Given the description of an element on the screen output the (x, y) to click on. 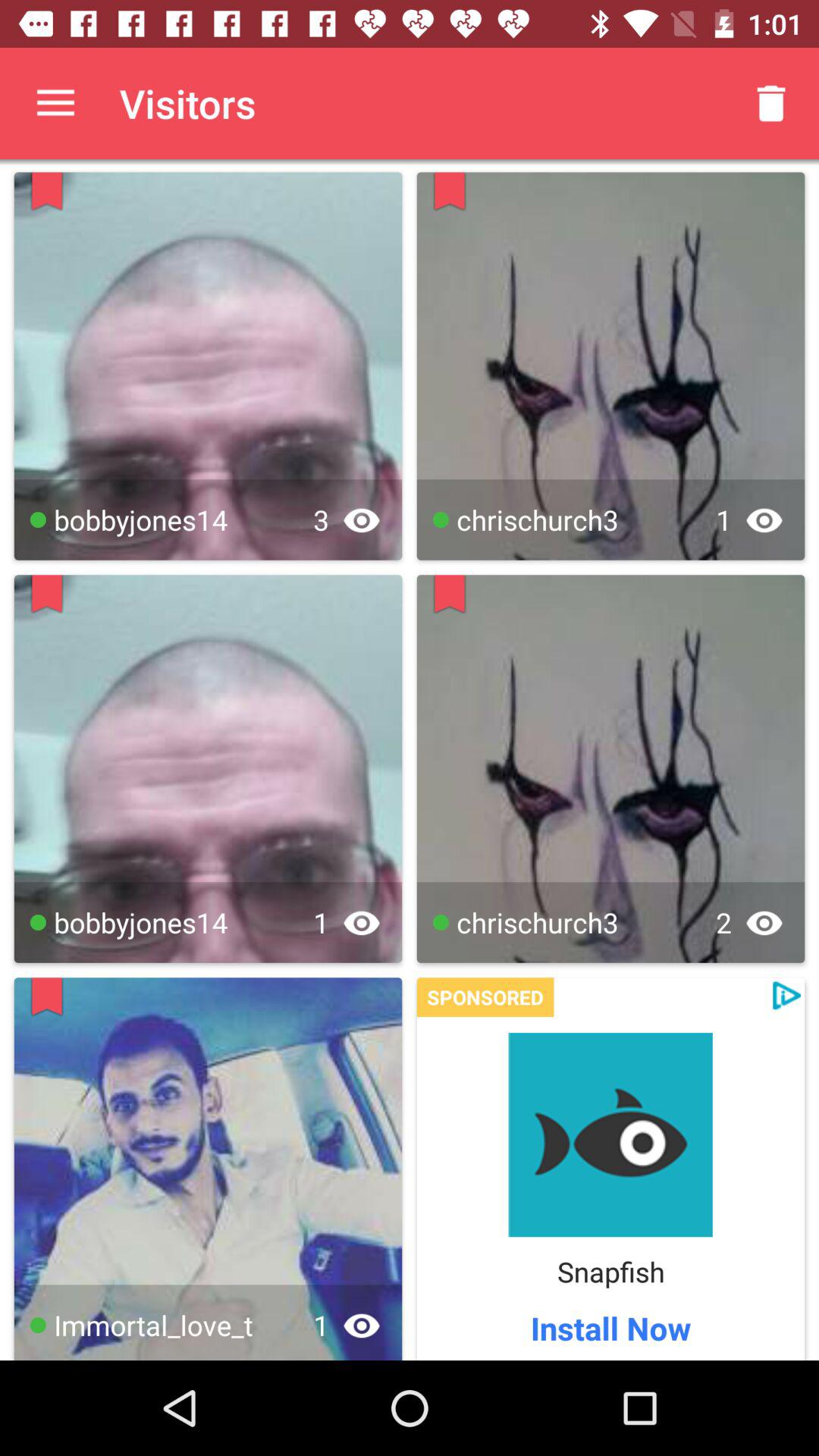
turn off the item above install now (610, 1271)
